Given the description of an element on the screen output the (x, y) to click on. 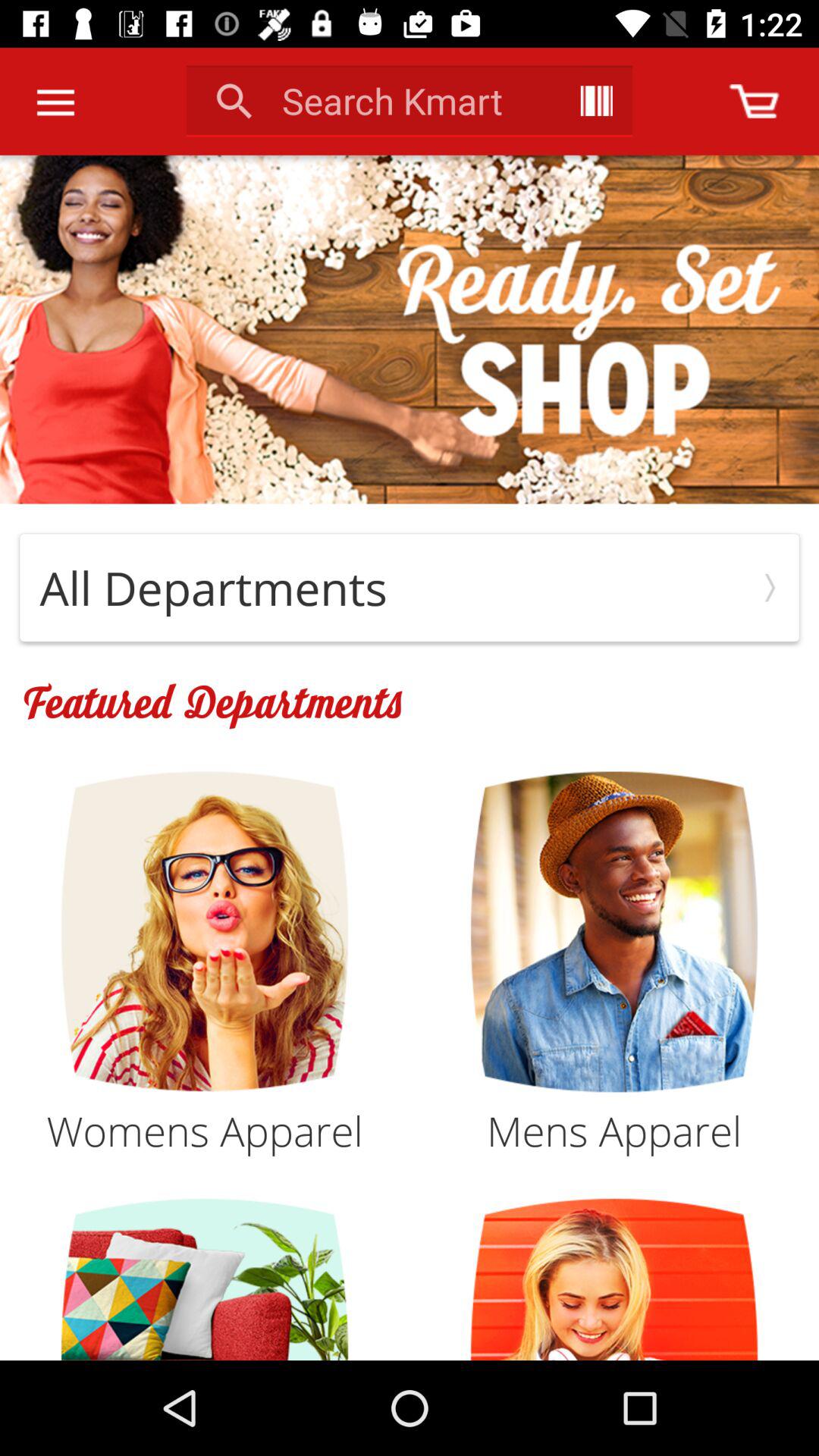
shopping cart content (754, 101)
